Given the description of an element on the screen output the (x, y) to click on. 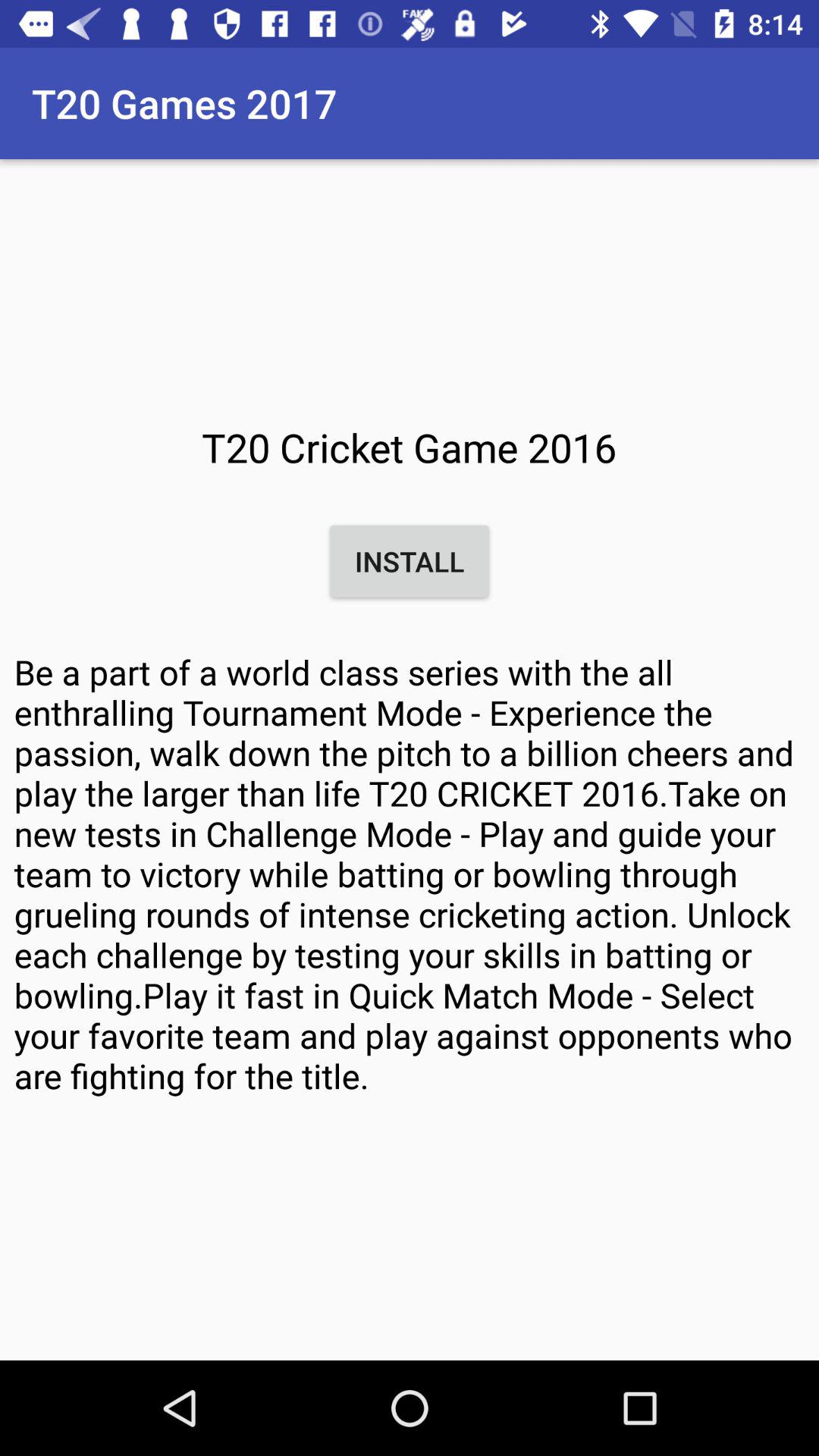
scroll to install (409, 561)
